Given the description of an element on the screen output the (x, y) to click on. 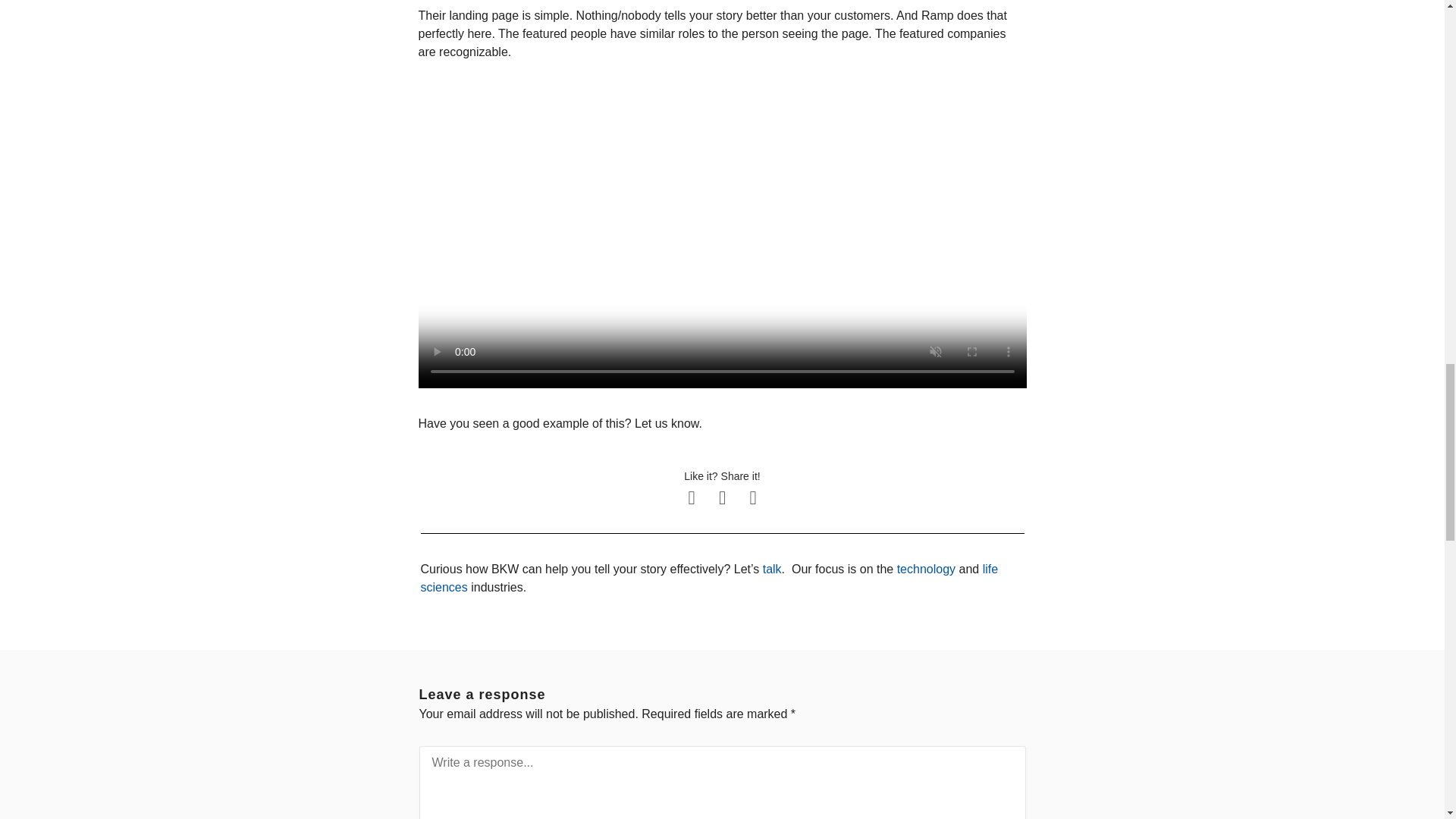
technology (925, 568)
life sciences (708, 577)
Start Your Project (771, 568)
life sciences (708, 577)
talk (771, 568)
